Given the description of an element on the screen output the (x, y) to click on. 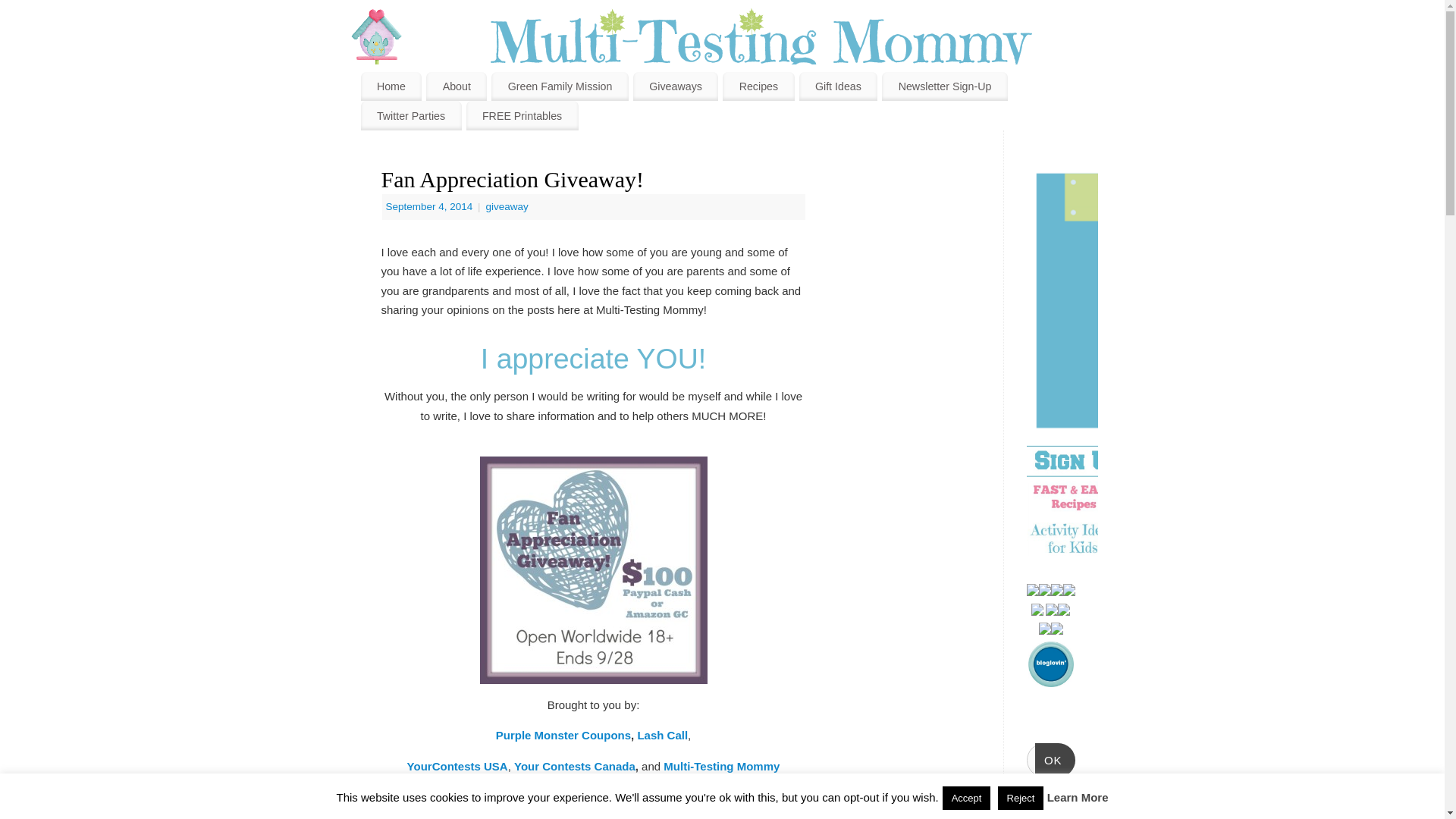
giveaway (505, 206)
Recipes (757, 86)
About (456, 86)
Lash Call (662, 735)
Your Contests Canada (573, 766)
Home (391, 86)
Purple Monster Coupons (563, 735)
Giveaways (675, 86)
5:05 pm (430, 206)
FREE Printables (521, 114)
